Given the description of an element on the screen output the (x, y) to click on. 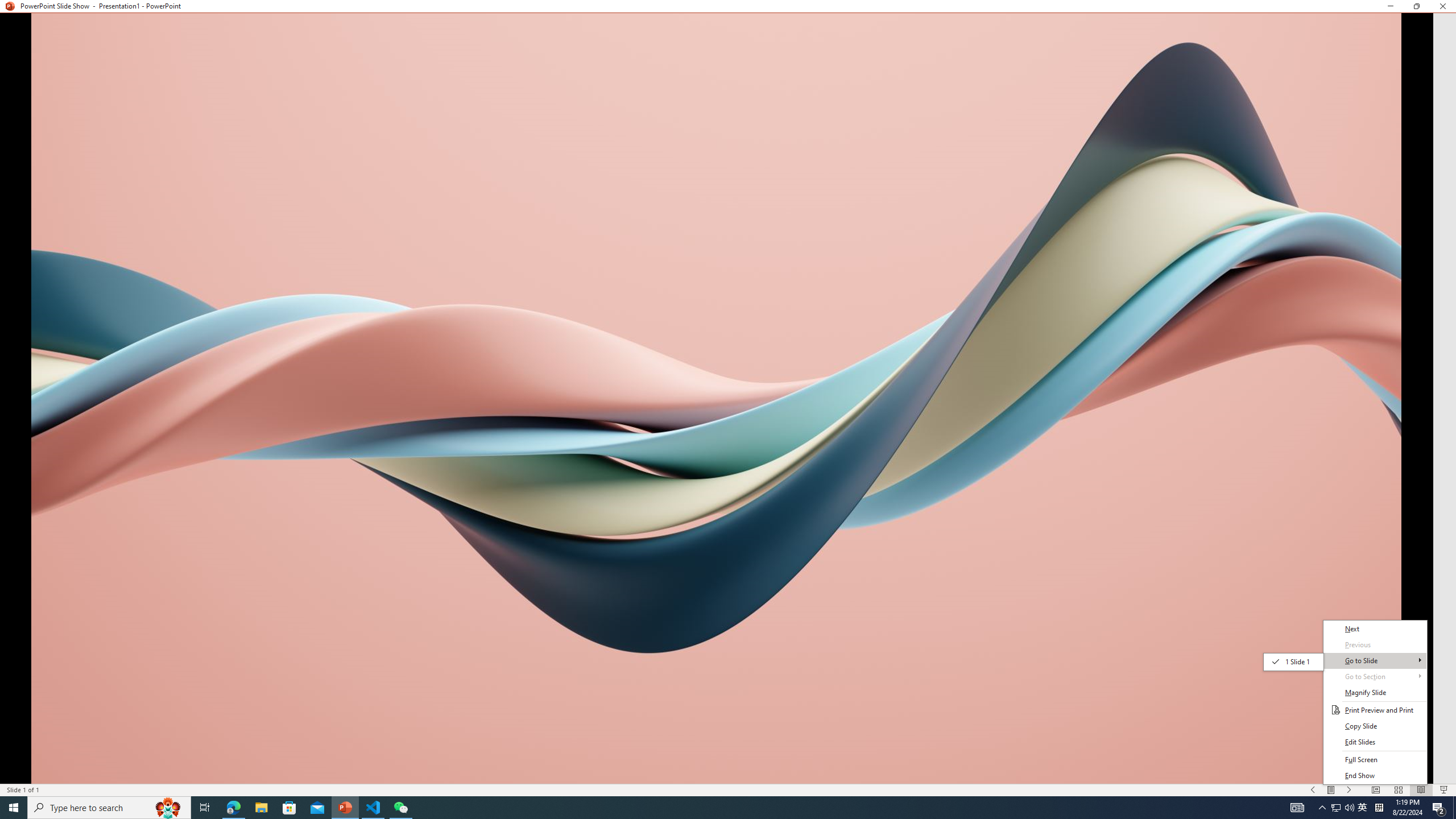
End Show (1374, 775)
File Explorer (261, 807)
Next (1335, 807)
Q2790: 100% (1362, 807)
Running applications (1374, 628)
Go to Section (1349, 807)
1 Slide 1 (707, 807)
Class: NetUITWMenuContainer (1374, 676)
User Promoted Notification Area (1293, 661)
Print Preview and Print (1374, 701)
PowerPoint - 1 running window (1342, 807)
